Given the description of an element on the screen output the (x, y) to click on. 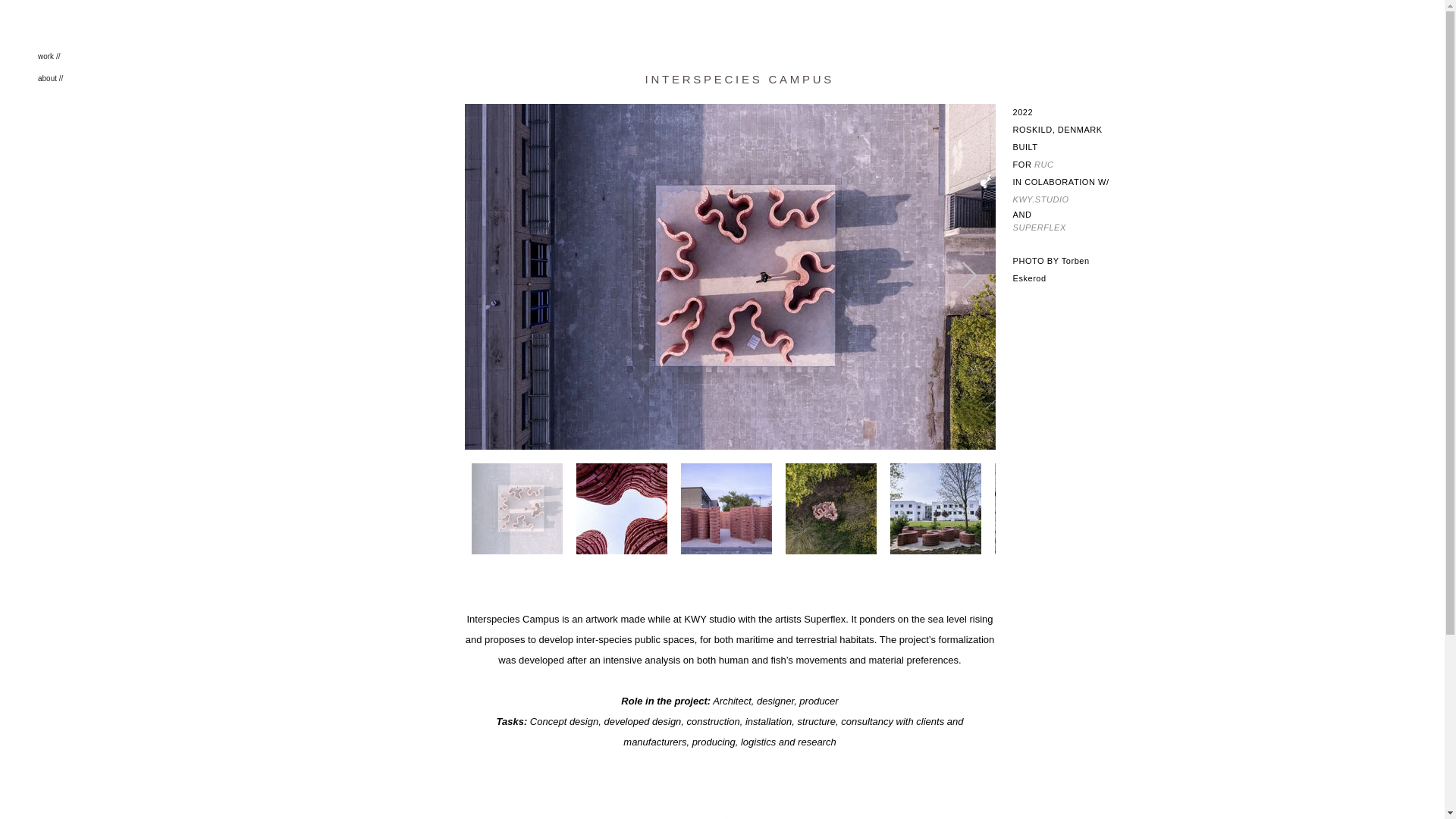
RUC (1042, 163)
SUPERFLEX (1039, 227)
KWY.STUDIO (1040, 198)
